Given the description of an element on the screen output the (x, y) to click on. 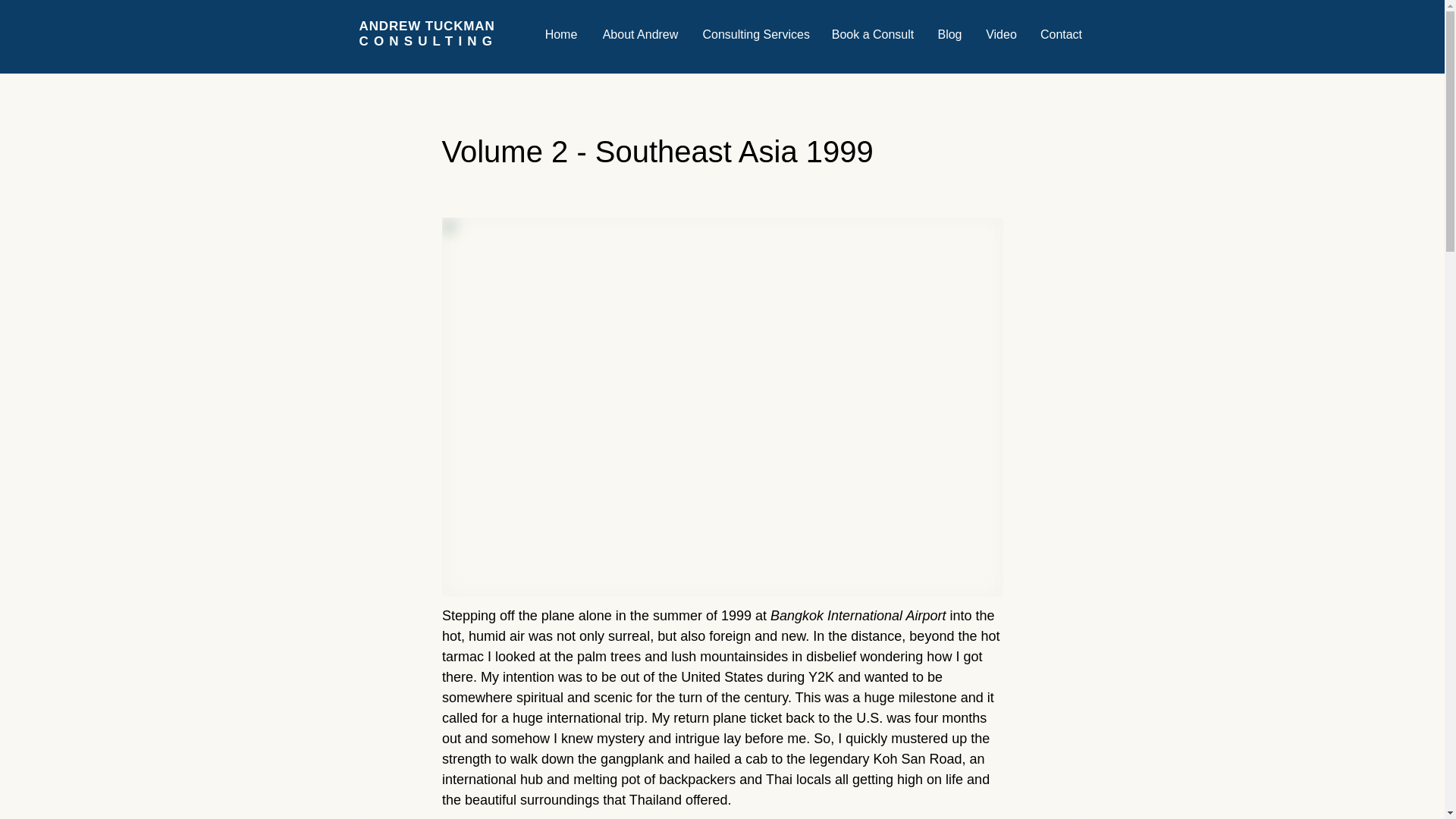
Blog (949, 34)
Contact (1060, 34)
Book a Consult (428, 33)
About Andrew (873, 34)
Video (640, 34)
Consulting Services (1000, 34)
Home (756, 34)
